Given the description of an element on the screen output the (x, y) to click on. 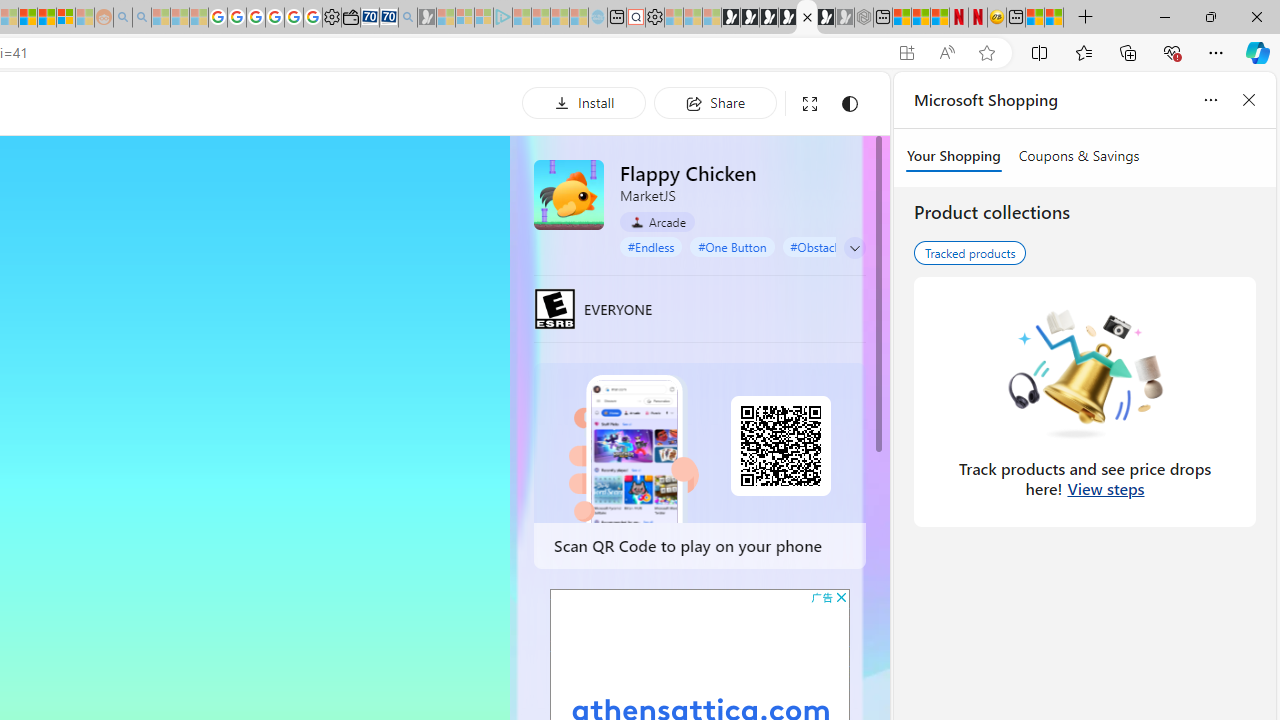
Wildlife - MSN (1035, 17)
Share (715, 102)
Full screen (810, 103)
#One Button (731, 246)
